Given the description of an element on the screen output the (x, y) to click on. 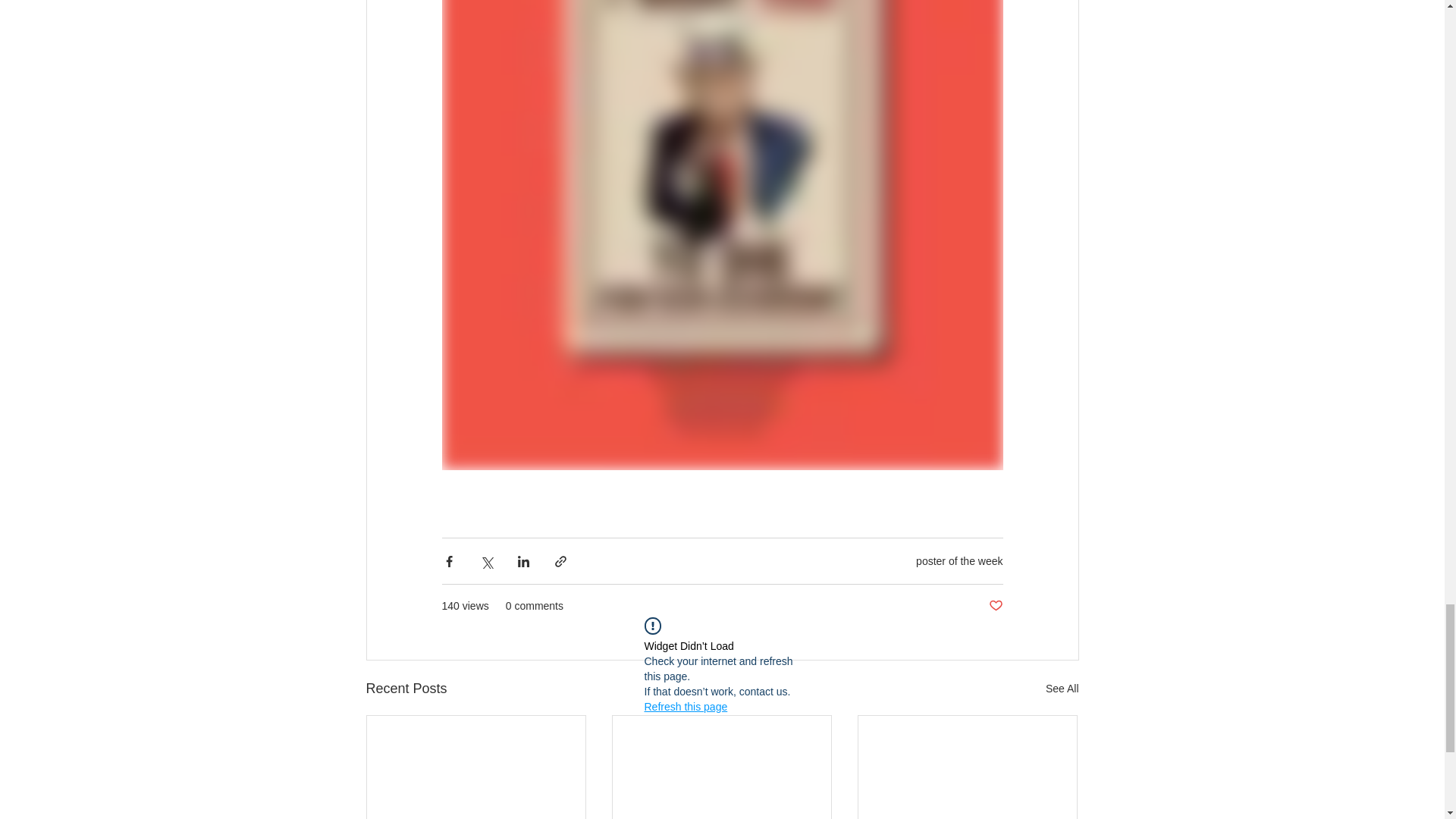
Post not marked as liked (995, 606)
See All (1061, 689)
poster of the week (959, 561)
